Given the description of an element on the screen output the (x, y) to click on. 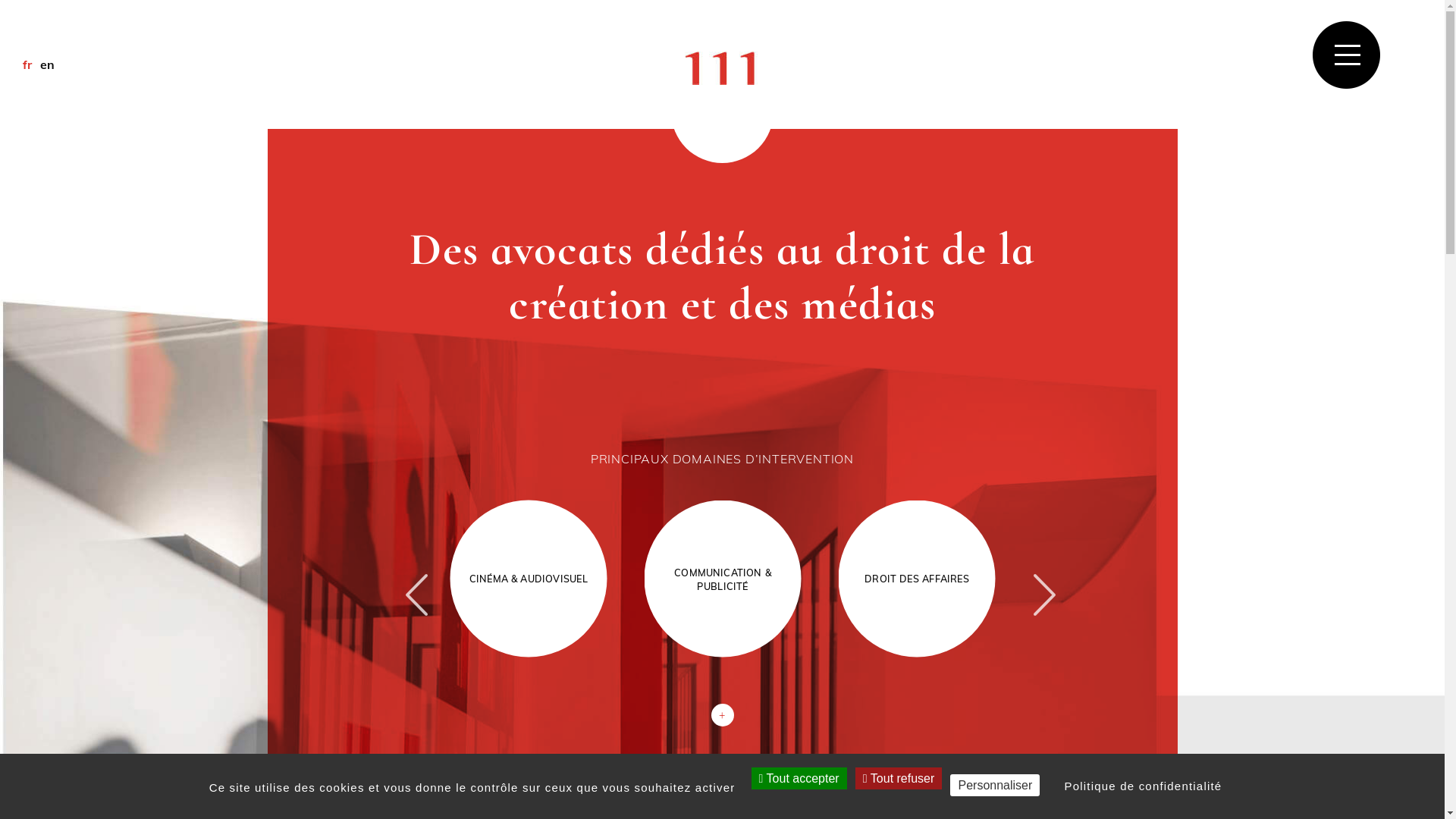
DROIT DES AFFAIRES Element type: text (924, 587)
Tout accepter Element type: text (799, 778)
Personnaliser Element type: text (994, 785)
Next Element type: text (1035, 578)
Tout refuser Element type: text (898, 778)
fr Element type: text (27, 64)
en Element type: text (47, 64)
Previous Element type: text (407, 578)
+ Element type: text (722, 714)
